Given the description of an element on the screen output the (x, y) to click on. 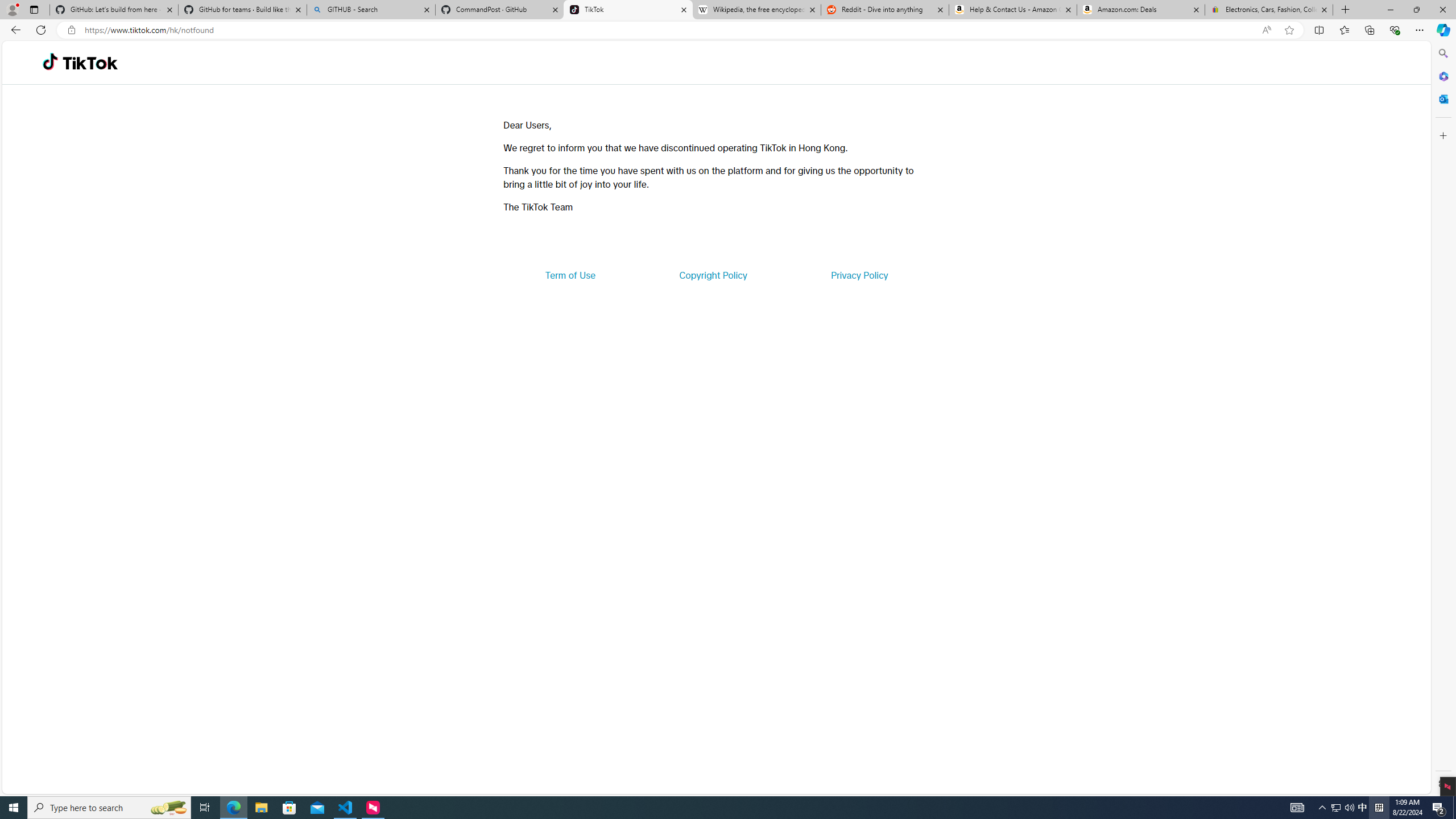
GITHUB - Search (370, 9)
Amazon.com: Deals (1140, 9)
